Given the description of an element on the screen output the (x, y) to click on. 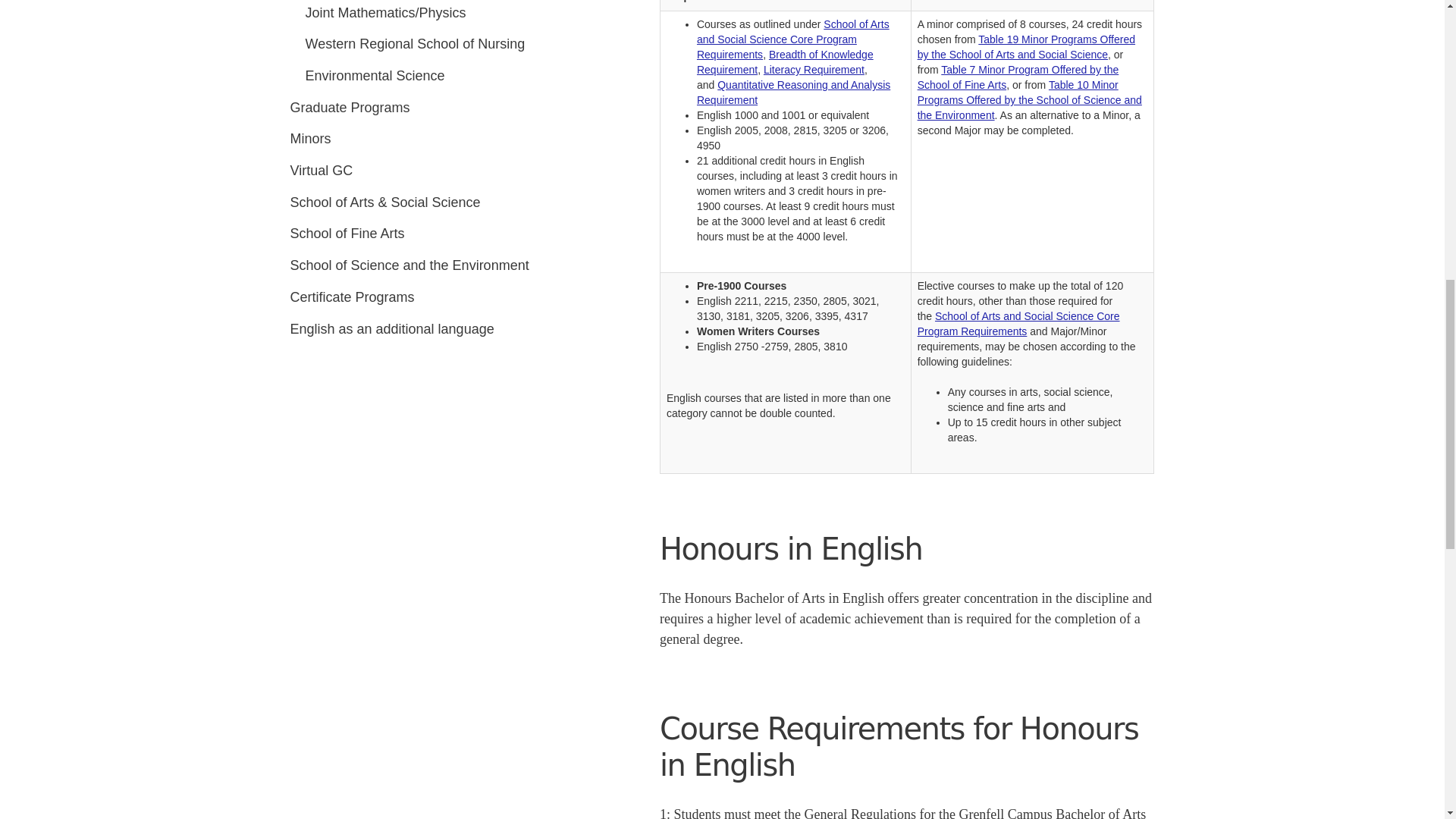
School of Arts and Social Science Core Program Requirements (1018, 323)
Table 7 Minor Program Offered by the School of Fine Arts (1018, 76)
School of Arts and Social Science Core Program Requirements (793, 39)
Breadth of Knowledge Requirement (785, 62)
Quantitative Reasoning and Analysis Requirement (793, 92)
Literacy Requirement (813, 69)
